Given the description of an element on the screen output the (x, y) to click on. 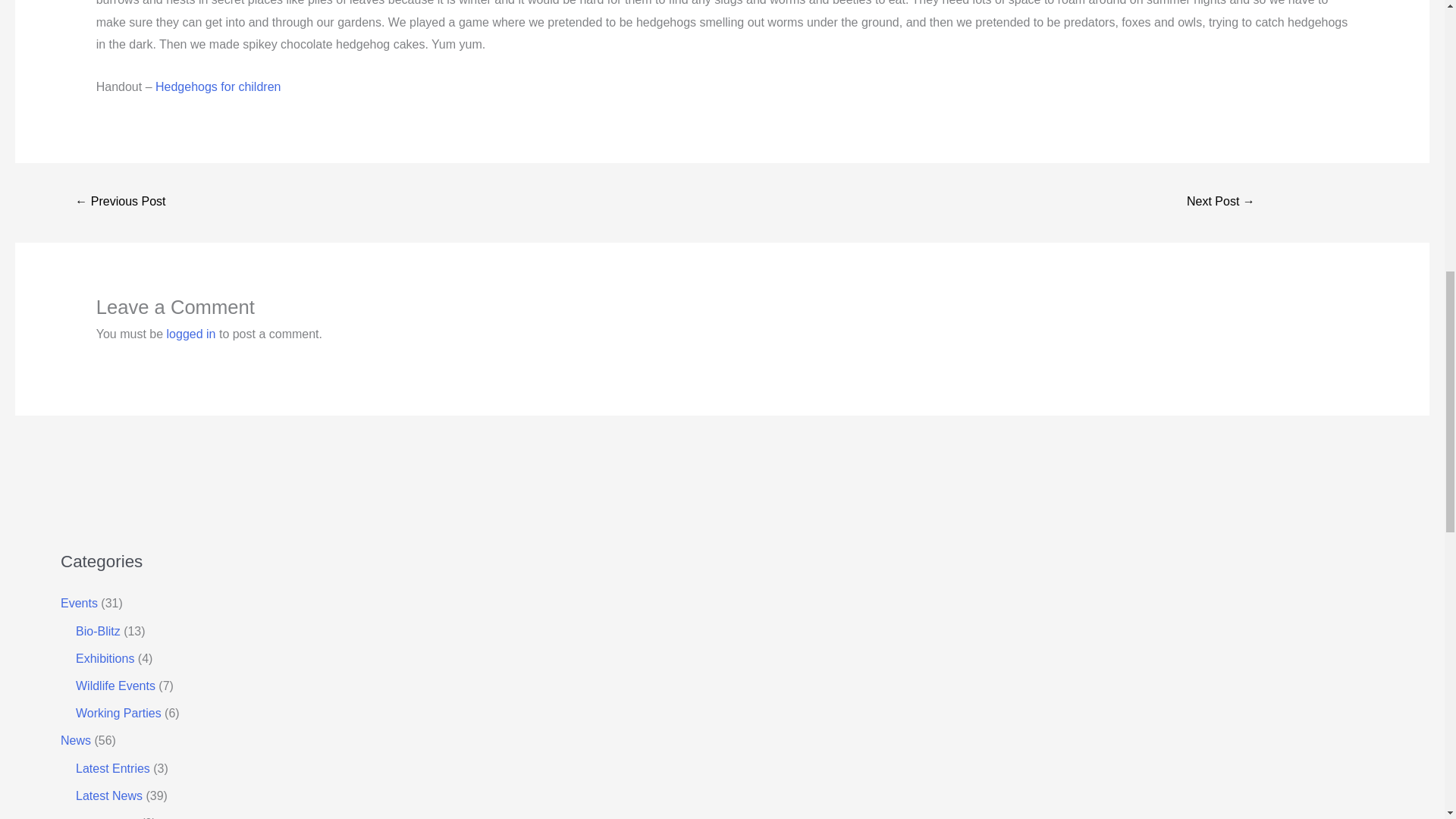
Hedgehogs for children (218, 86)
Working Parties (118, 712)
News (75, 739)
Latest Entries (112, 768)
Wildlife Events (115, 685)
Trip to Two Tree Island (1220, 203)
logged in (191, 333)
Bio-Blitz (97, 631)
Latest News (108, 795)
Nature Club - January 2016 (119, 203)
